Given the description of an element on the screen output the (x, y) to click on. 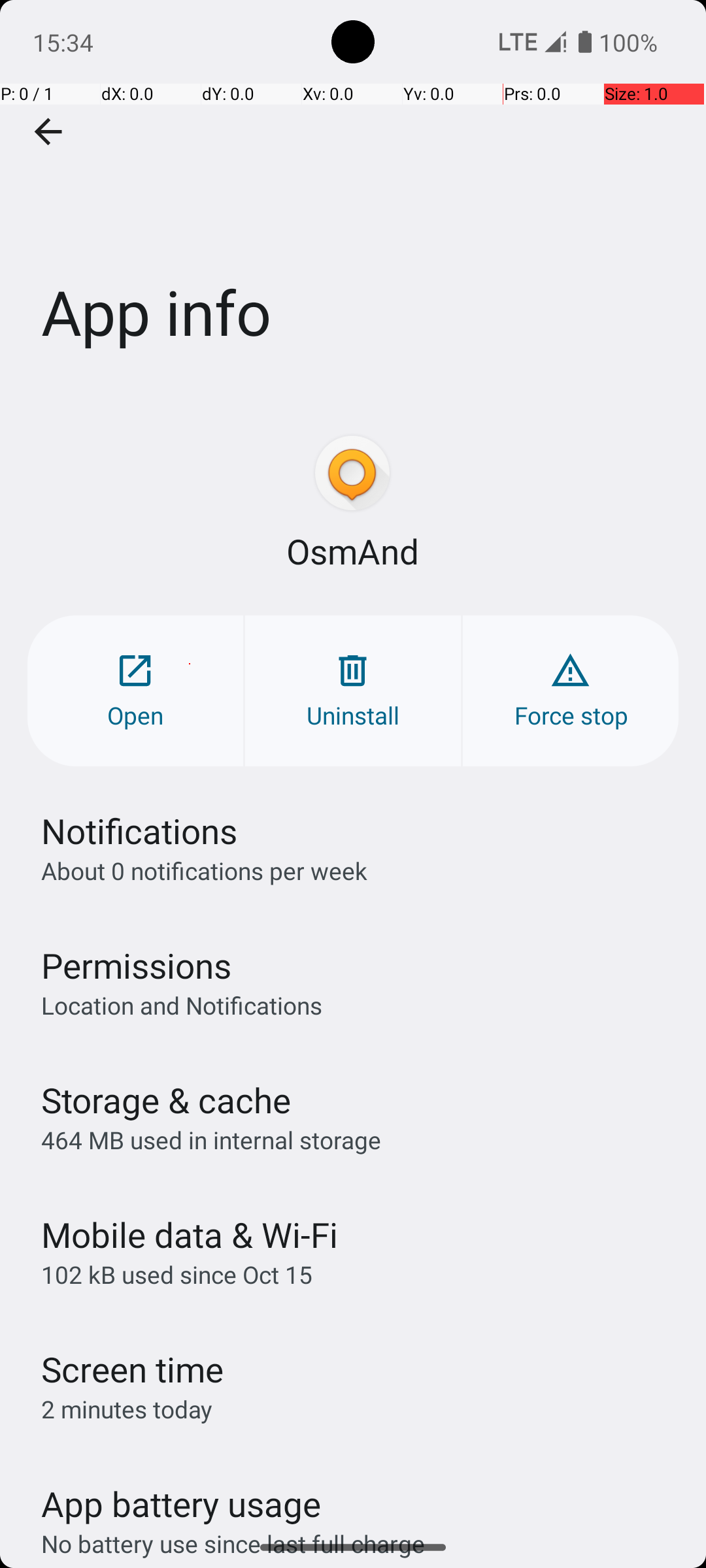
About 0 notifications per week Element type: android.widget.TextView (204, 870)
Location and Notifications Element type: android.widget.TextView (181, 1004)
464 MB used in internal storage Element type: android.widget.TextView (211, 1139)
102 kB used since Oct 15 Element type: android.widget.TextView (176, 1273)
2 minutes today Element type: android.widget.TextView (127, 1408)
